Given the description of an element on the screen output the (x, y) to click on. 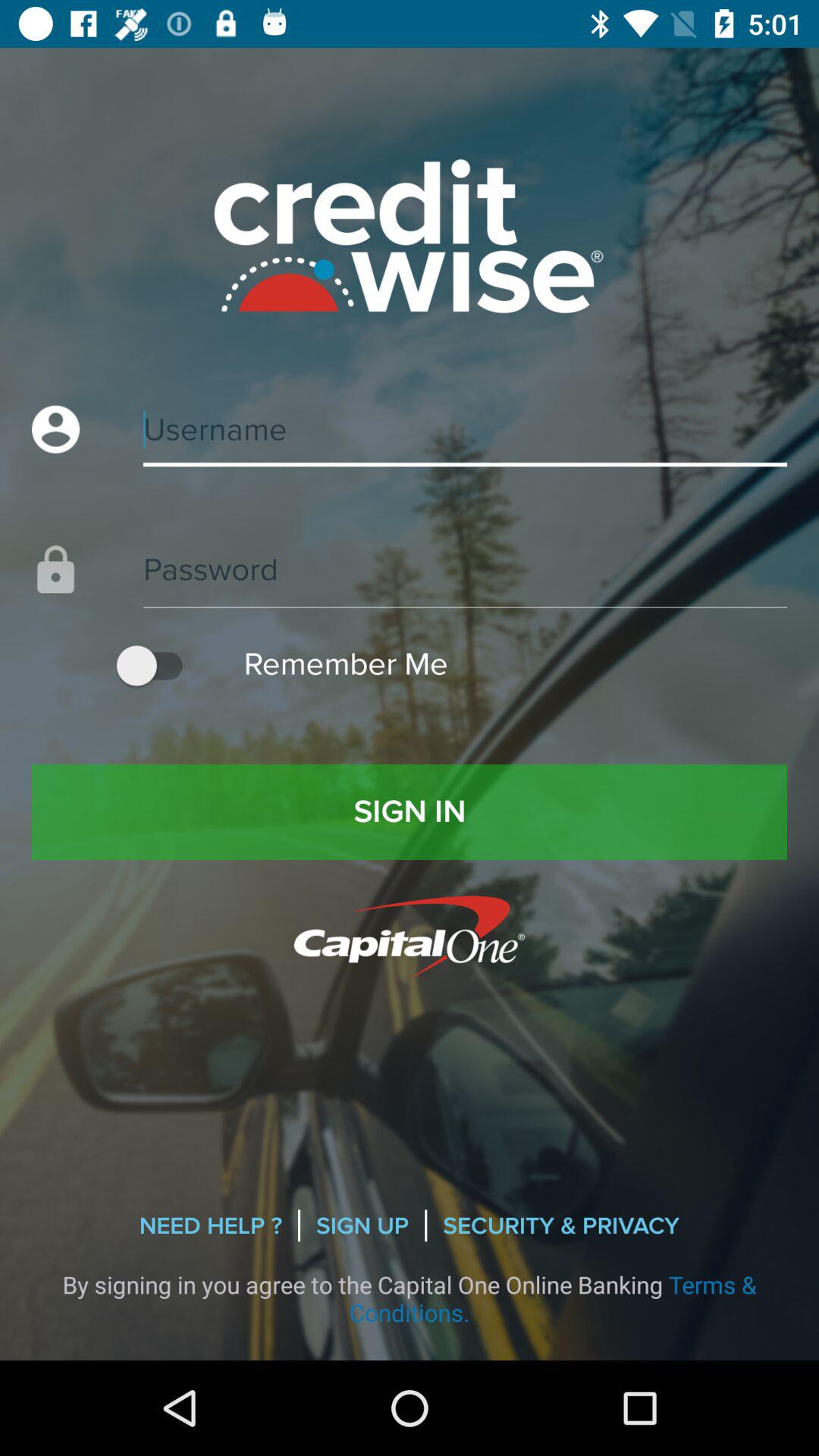
tap the item above by signing in icon (561, 1225)
